Given the description of an element on the screen output the (x, y) to click on. 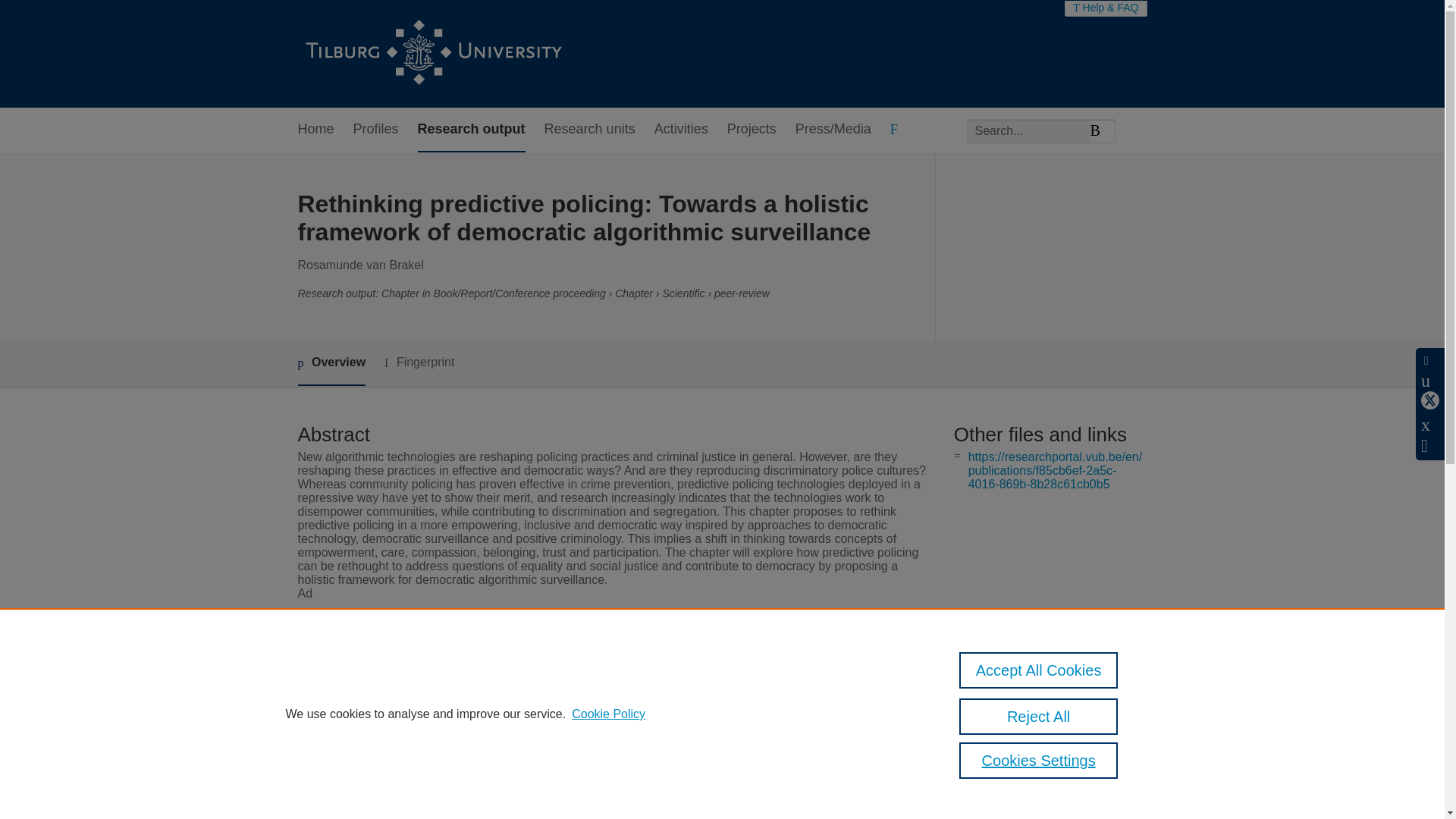
Activities (680, 129)
Research output (471, 129)
Overview (331, 363)
Tilburg University Research Portal Home (433, 53)
Projects (751, 129)
Profiles (375, 129)
Research units (589, 129)
Fingerprint (419, 362)
